Given the description of an element on the screen output the (x, y) to click on. 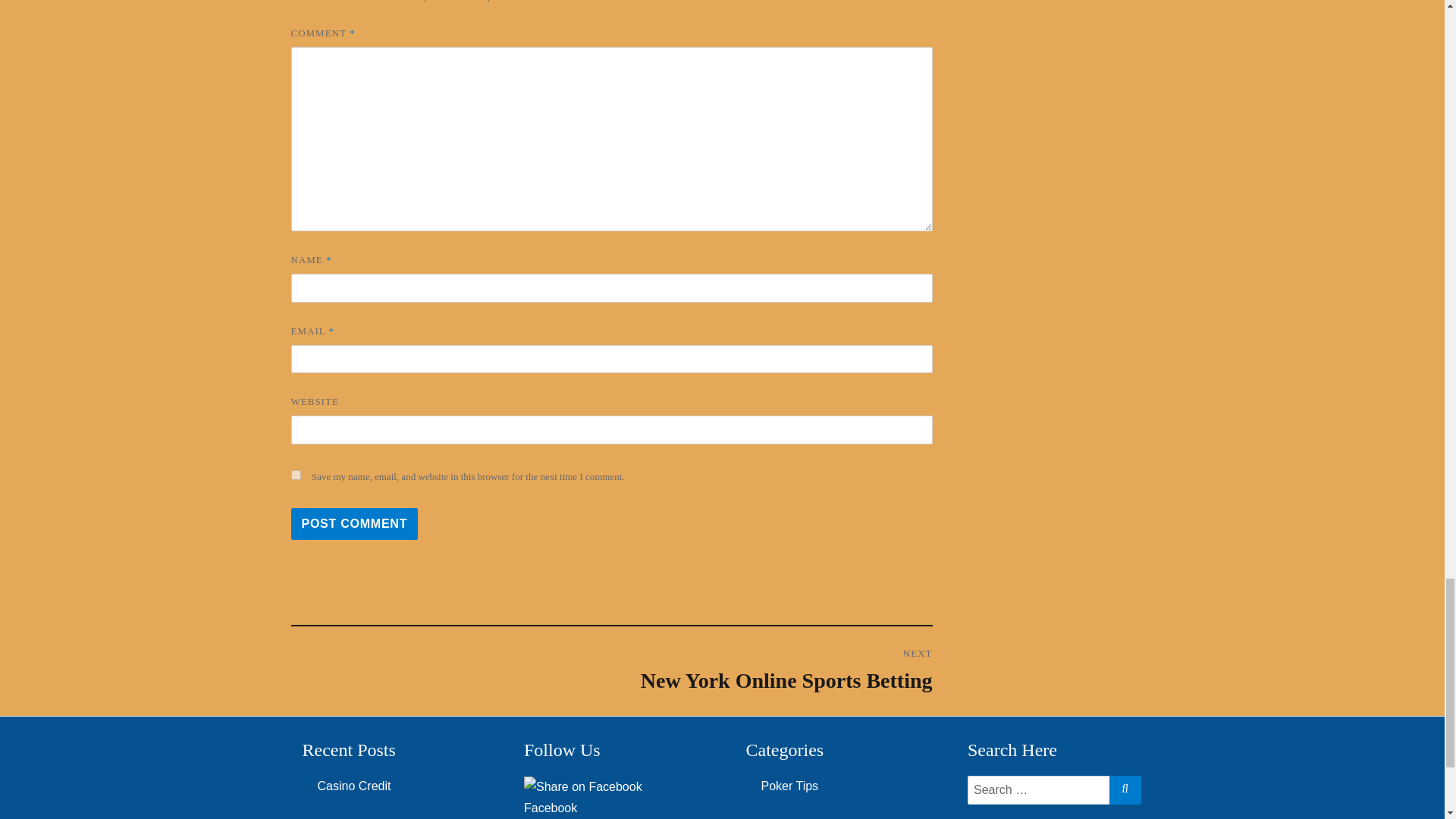
Post Comment (355, 523)
SEARCH (1124, 788)
yes (296, 474)
Facebook (771, 669)
Facebook (611, 799)
Poker Tips (583, 786)
Post Comment (789, 785)
Casino Credit (355, 523)
Facebook (353, 785)
